Given the description of an element on the screen output the (x, y) to click on. 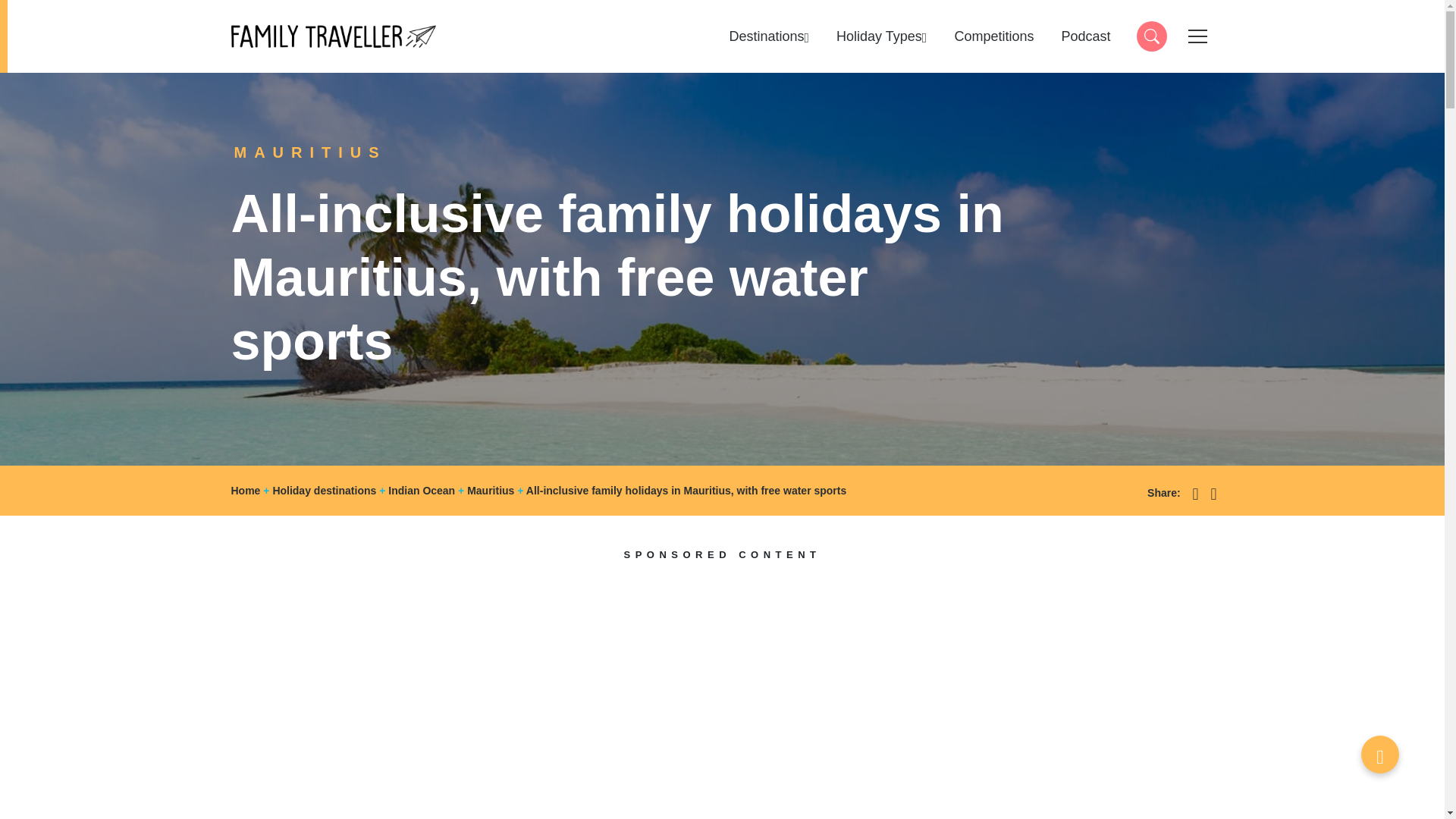
Holiday Types (881, 36)
Destinations (768, 36)
Podcast (1085, 36)
Search anything... (1150, 36)
Competitions (993, 36)
